Given the description of an element on the screen output the (x, y) to click on. 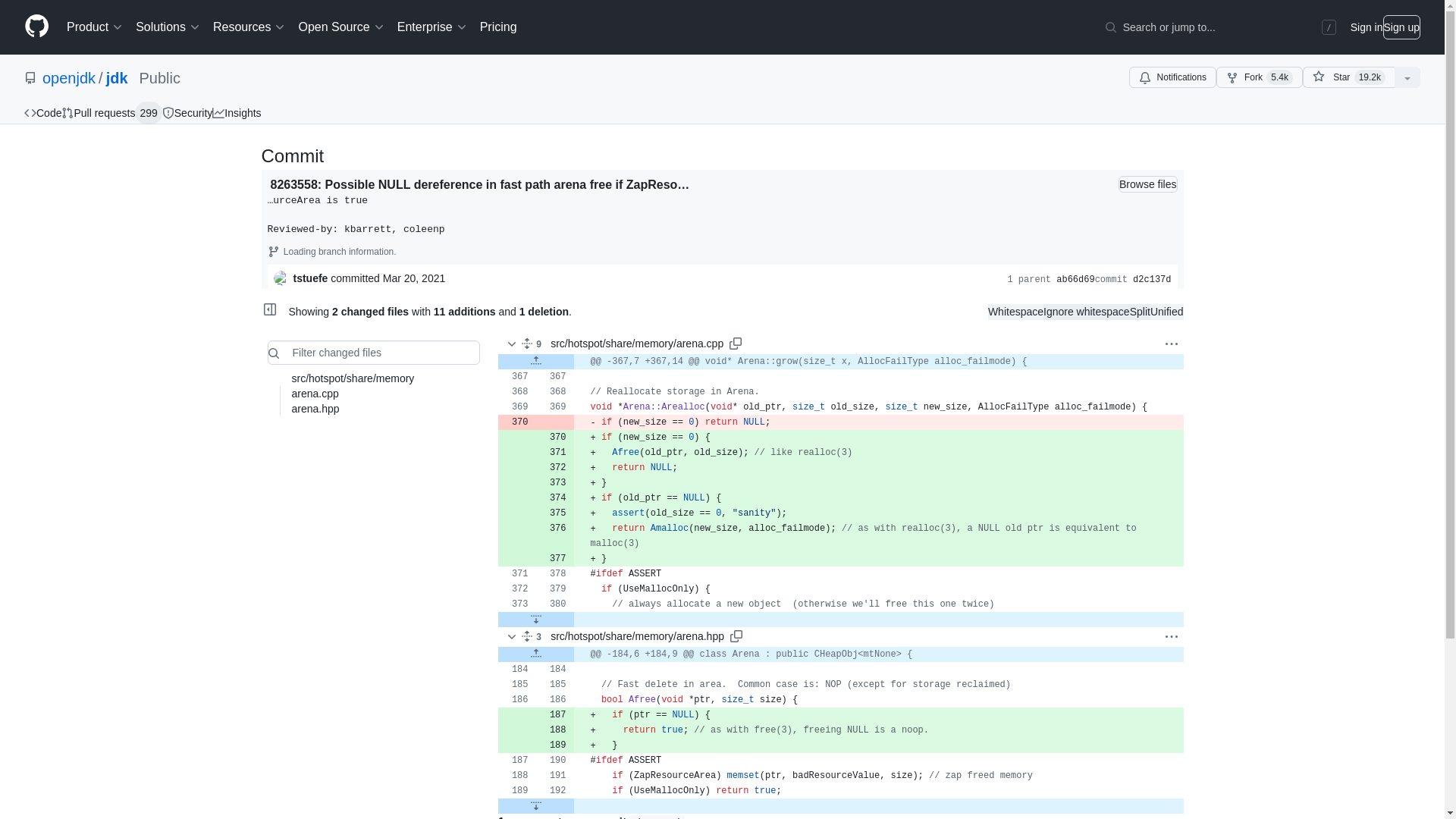
5,363 (1279, 77)
299 (148, 112)
modified (473, 408)
19,160 (1370, 77)
Resources (249, 27)
View all commits by tstuefe (309, 277)
Solutions (167, 27)
Product (95, 27)
